Given the description of an element on the screen output the (x, y) to click on. 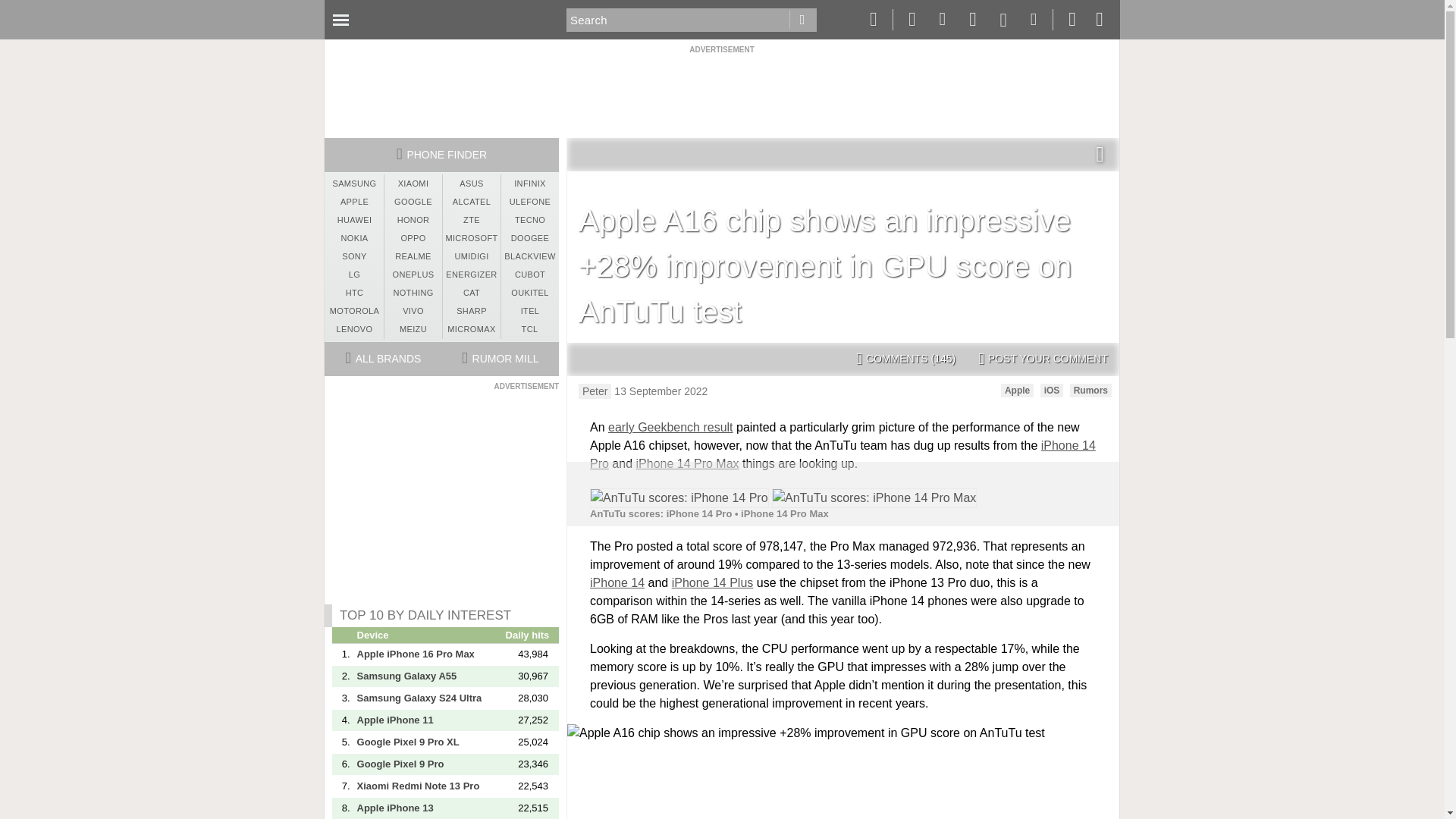
iOS (1052, 390)
iPhone 14 (617, 582)
POST YOUR COMMENT (1042, 359)
iPhone 14 Pro Max (686, 463)
early Geekbench result (670, 427)
Apple (1017, 390)
Peter (594, 391)
Go (802, 19)
iPhone 14 Plus (712, 582)
Rumors (1091, 390)
